Given the description of an element on the screen output the (x, y) to click on. 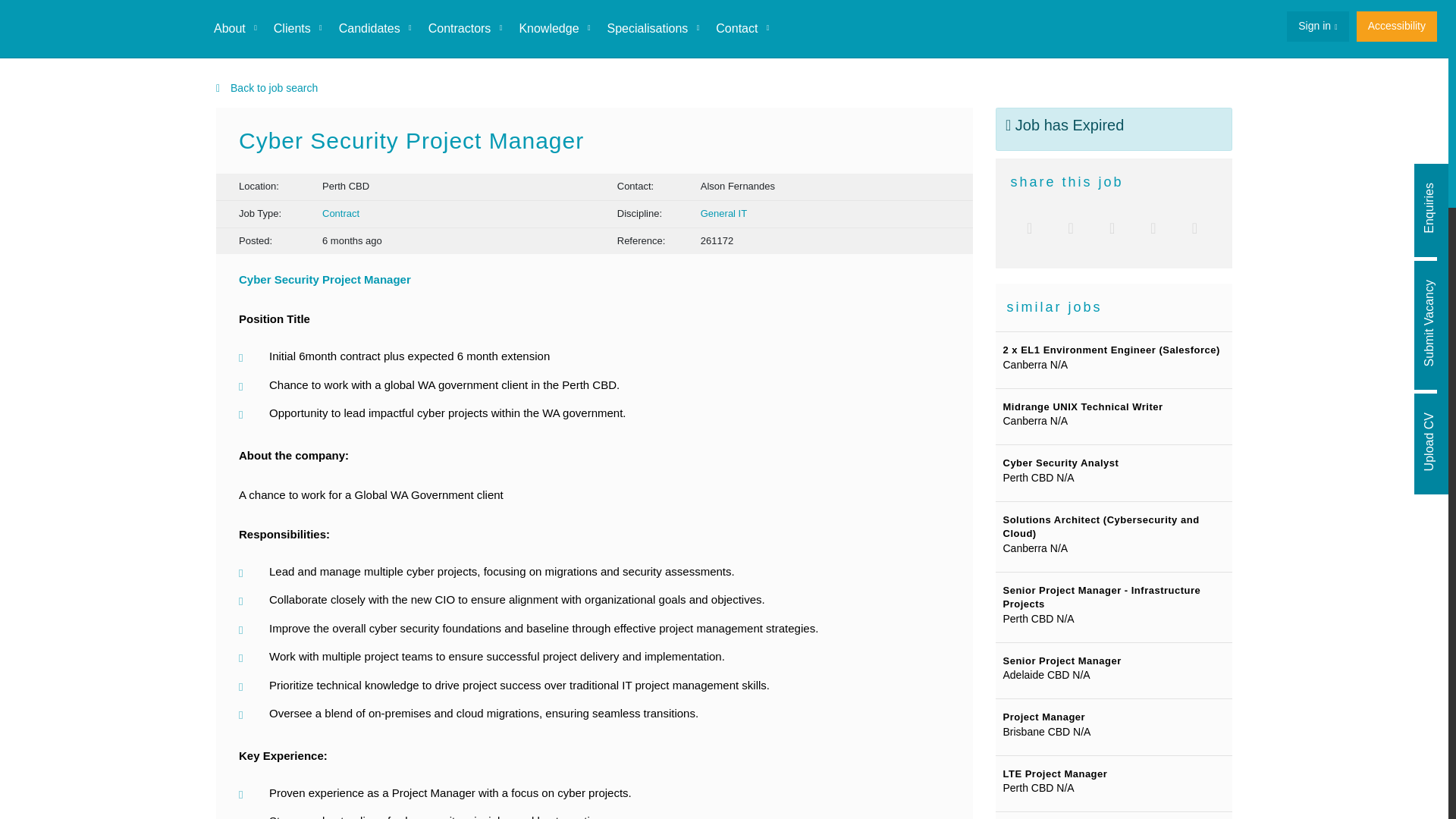
Candidates (374, 28)
Knowledge (552, 28)
Contractors (465, 28)
Go to the Homepage (102, 28)
About (234, 28)
Specialisations (652, 28)
Clients (297, 28)
Peoplebank (102, 28)
